Given the description of an element on the screen output the (x, y) to click on. 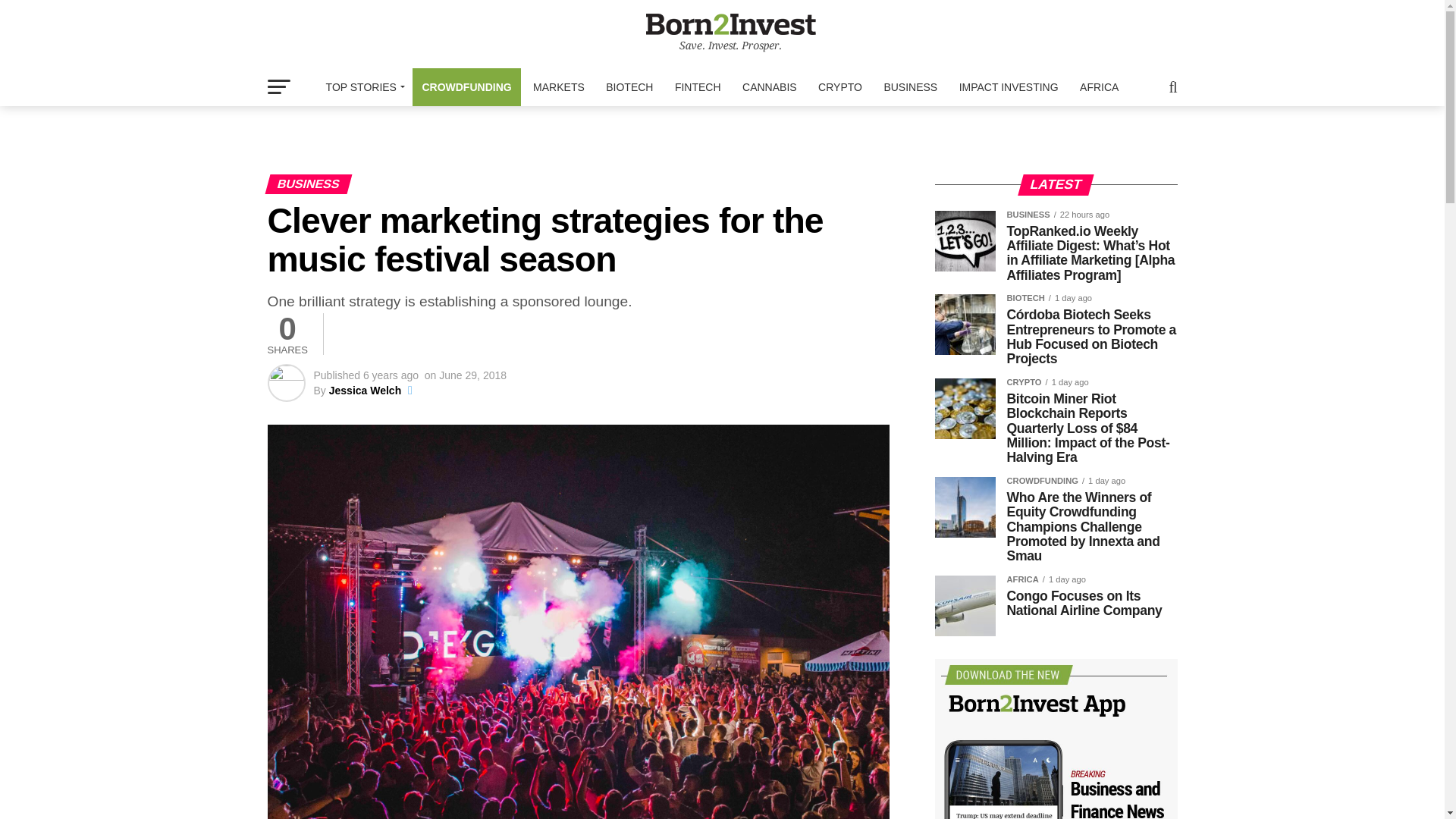
AFRICA (1098, 86)
CROWDFUNDING (465, 86)
BUSINESS (910, 86)
Jessica Welch (365, 390)
Posts by Jessica Welch (365, 390)
CANNABIS (769, 86)
MARKETS (559, 86)
BIOTECH (629, 86)
TOP STORIES (363, 86)
IMPACT INVESTING (1008, 86)
FINTECH (697, 86)
CRYPTO (839, 86)
